Given the description of an element on the screen output the (x, y) to click on. 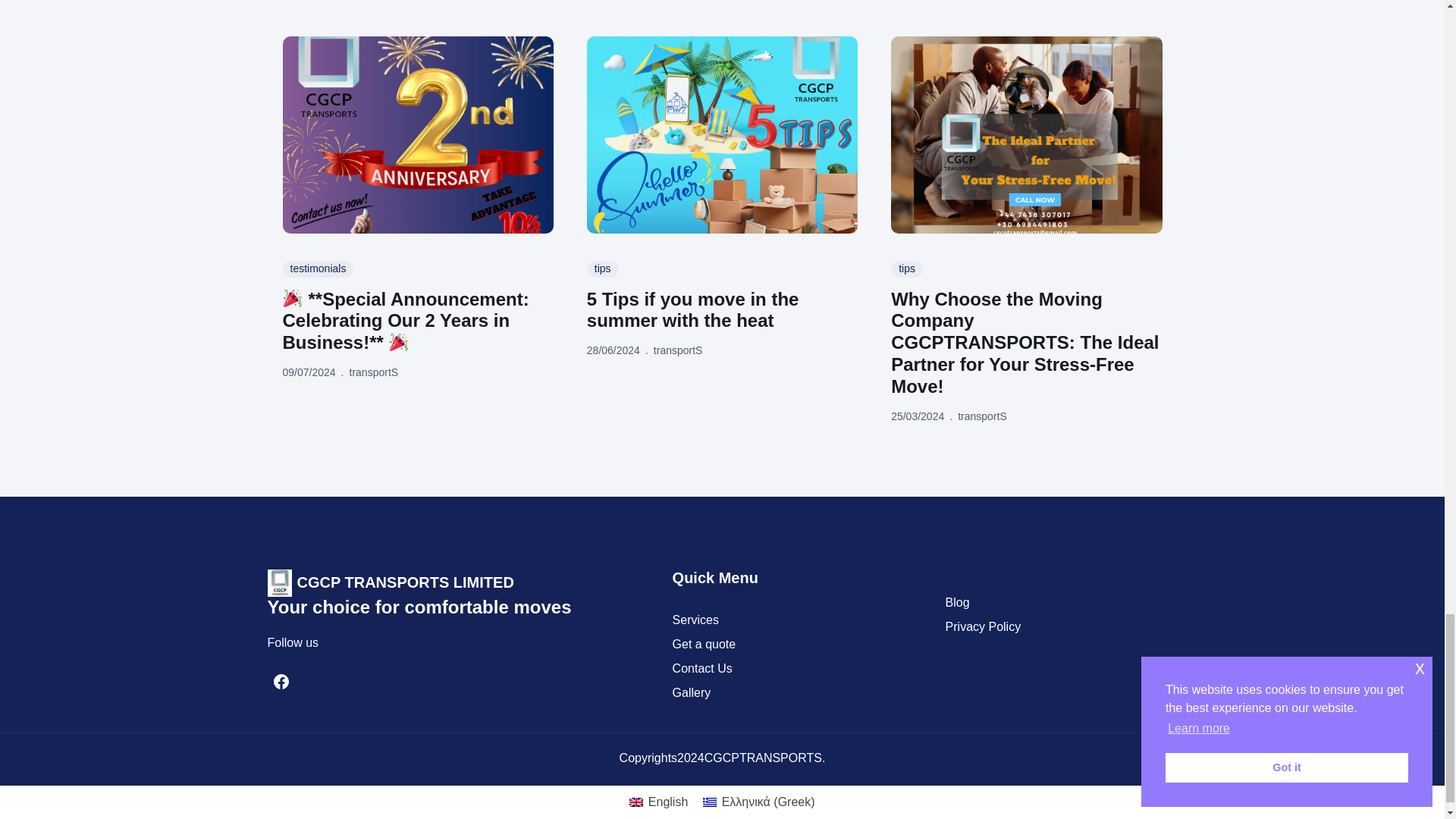
tips (602, 269)
tips (907, 269)
Facebook (280, 681)
testimonials (317, 269)
5 Tips if you move in the summer with the heat (721, 310)
